Given the description of an element on the screen output the (x, y) to click on. 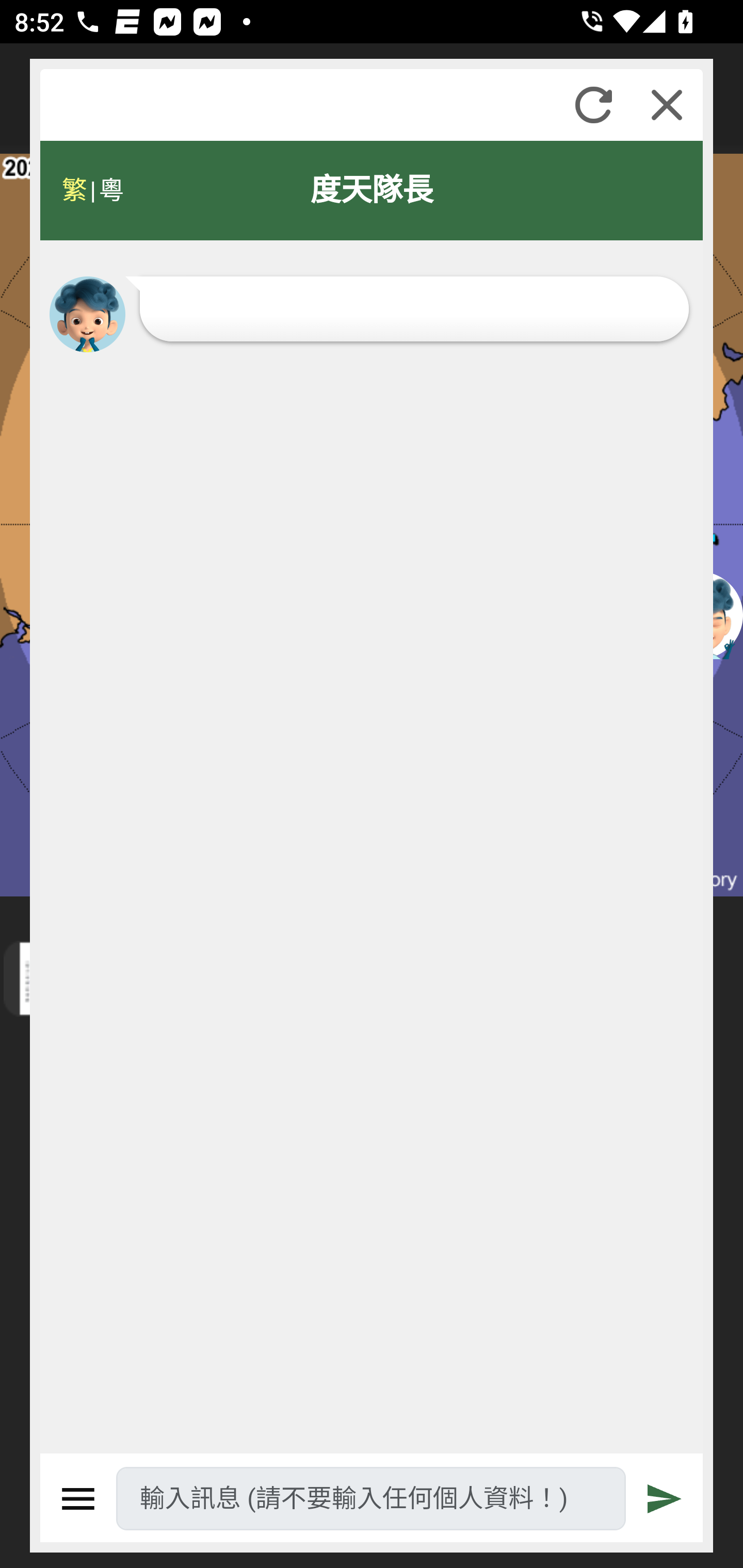
重新整理 (593, 104)
關閉 (666, 104)
繁 (73, 190)
粵 (110, 190)
選單 (78, 1498)
遞交 (665, 1498)
